Given the description of an element on the screen output the (x, y) to click on. 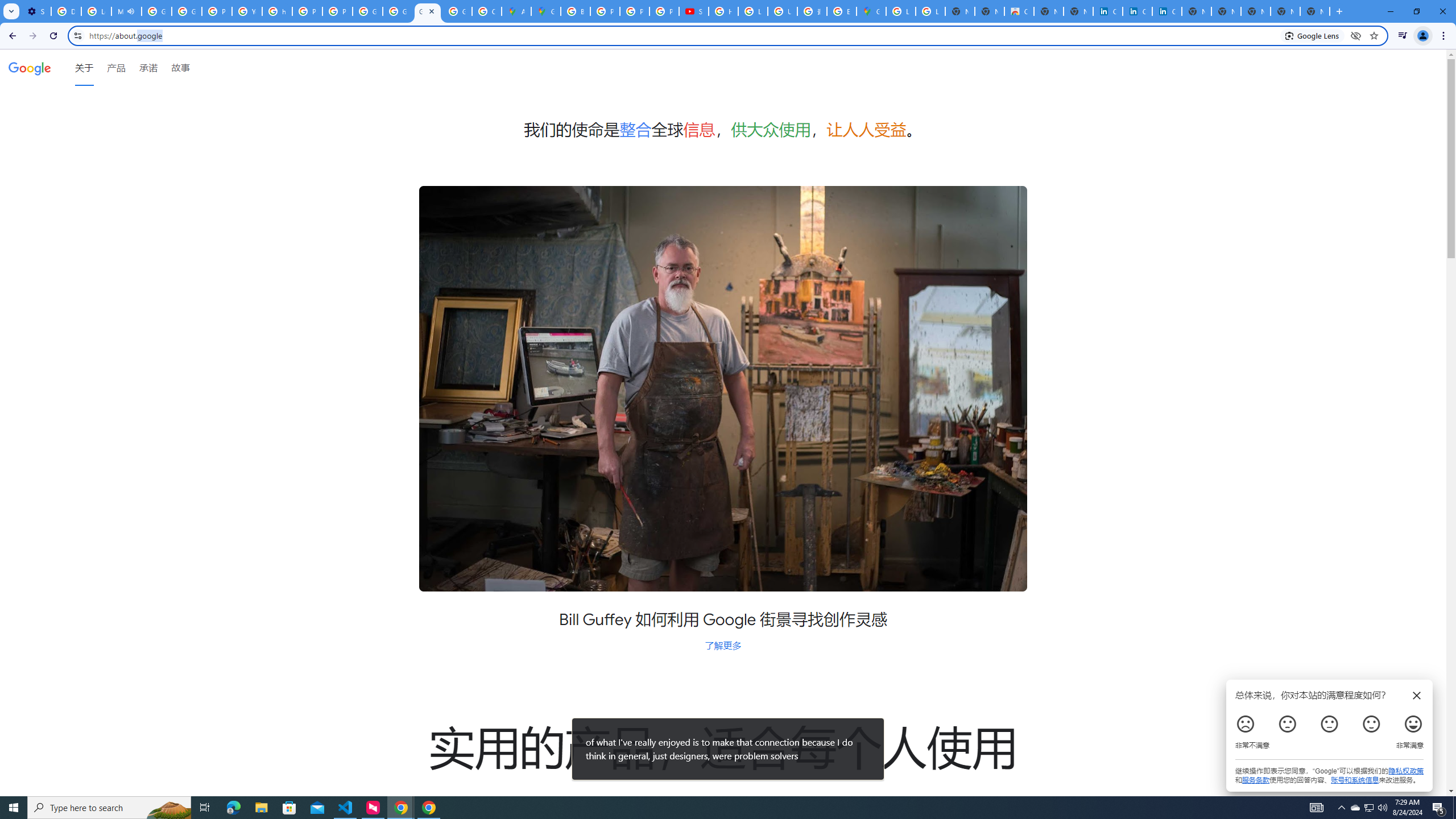
Cookie Policy | LinkedIn (1137, 11)
Settings - Customize profile (36, 11)
Cookie Policy | LinkedIn (1107, 11)
Chrome Web Store (1018, 11)
